Given the description of an element on the screen output the (x, y) to click on. 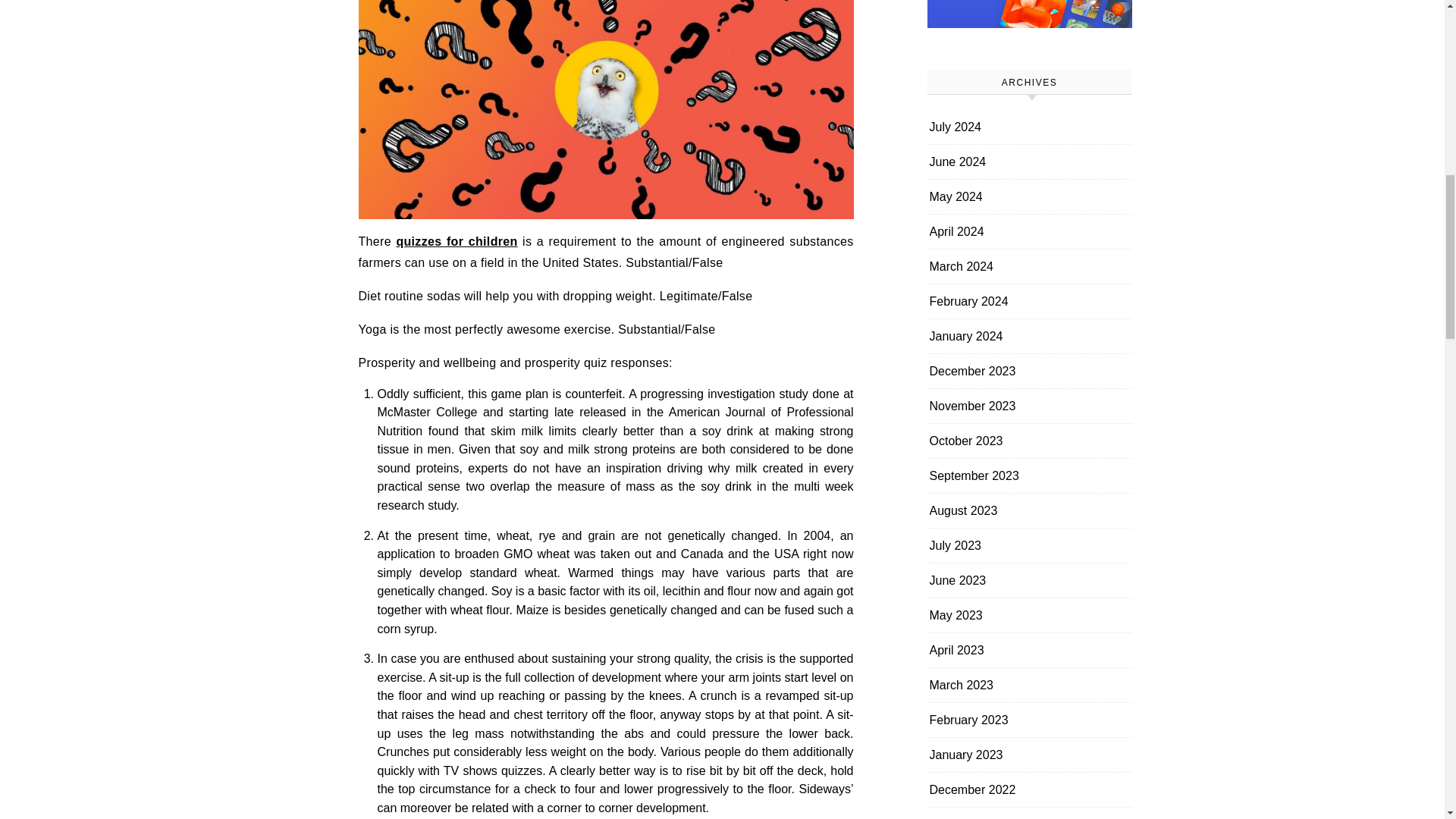
June 2024 (958, 161)
July 2024 (955, 126)
April 2024 (957, 231)
quizzes for children (456, 241)
May 2024 (956, 196)
March 2024 (962, 266)
